Given the description of an element on the screen output the (x, y) to click on. 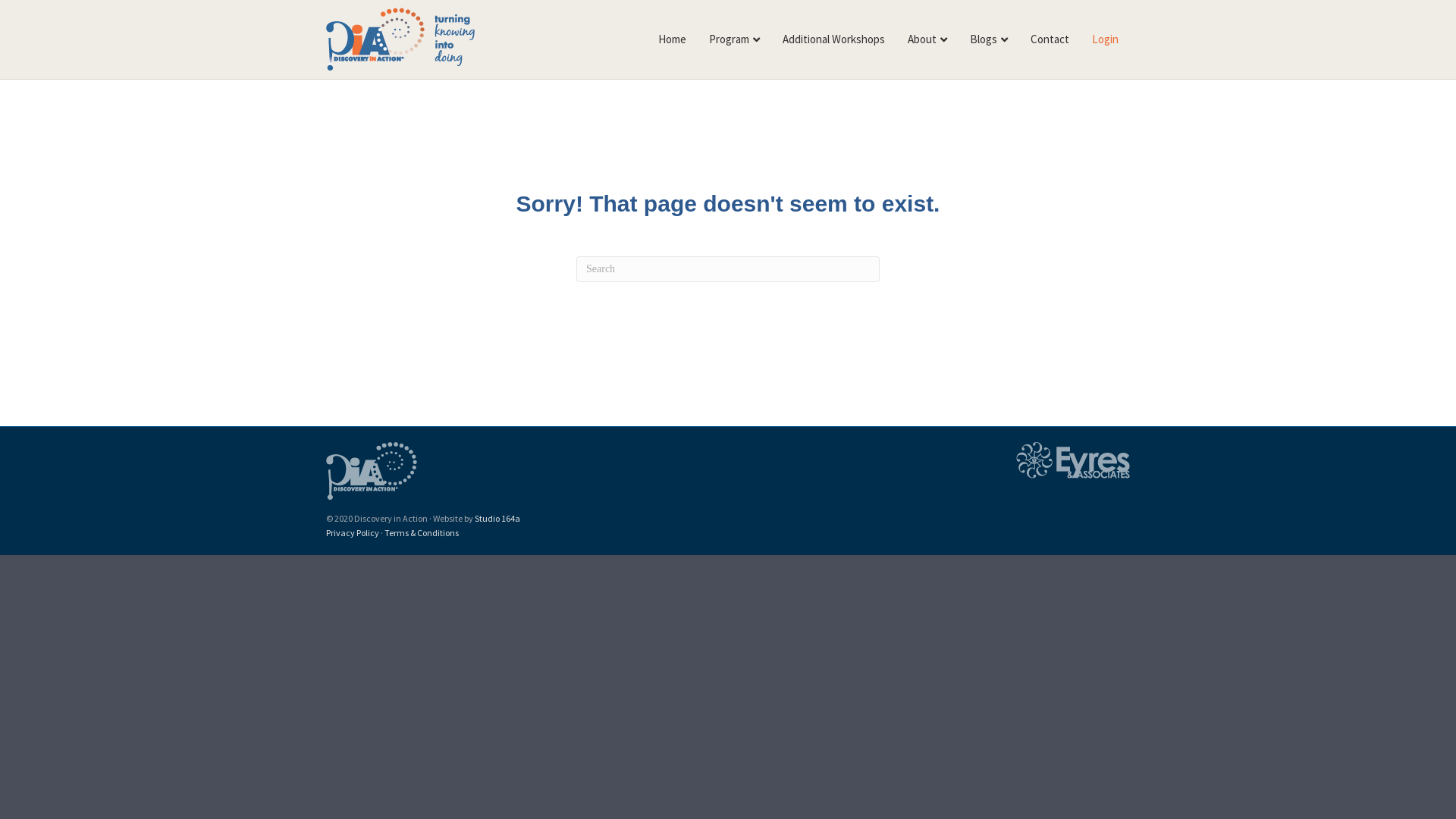
Contact Element type: text (1049, 38)
Program Element type: text (734, 39)
About Element type: text (927, 39)
Studio 164a Element type: text (497, 518)
Blogs Element type: text (988, 39)
Privacy Policy Element type: text (352, 532)
Type and press Enter to search. Element type: hover (727, 269)
Additional Workshops Element type: text (833, 38)
Login Element type: text (1104, 38)
Home Element type: text (671, 38)
Terms & Conditions Element type: text (421, 532)
